Given the description of an element on the screen output the (x, y) to click on. 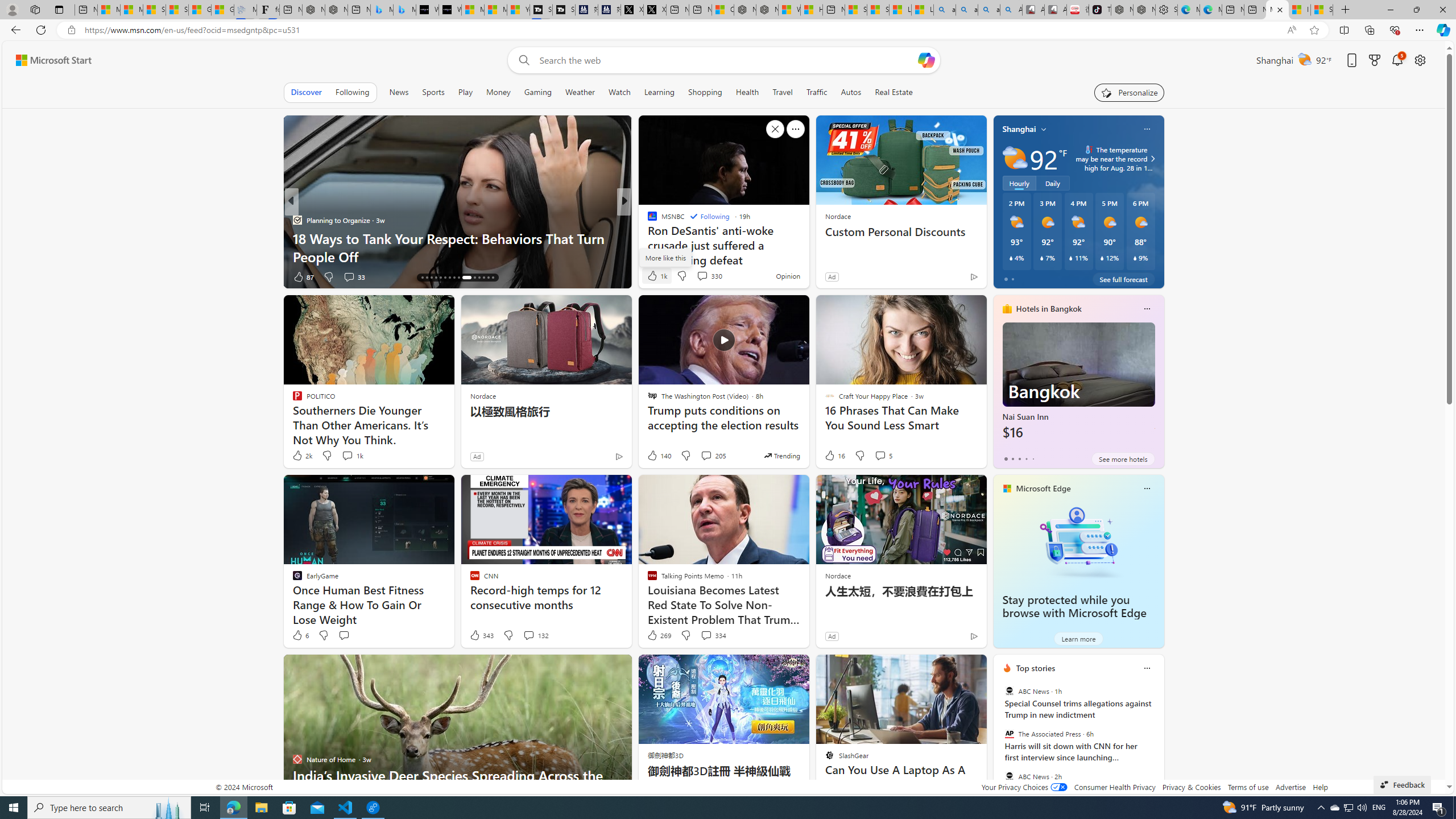
AutomationID: tab-24 (458, 277)
View comments 1k Comment (346, 455)
previous (998, 741)
hotels-header-icon (1006, 308)
AutomationID: tab-29 (488, 277)
AutomationID: tab-20 (440, 277)
Daily (1052, 183)
Personalize your feed" (1129, 92)
